Given the description of an element on the screen output the (x, y) to click on. 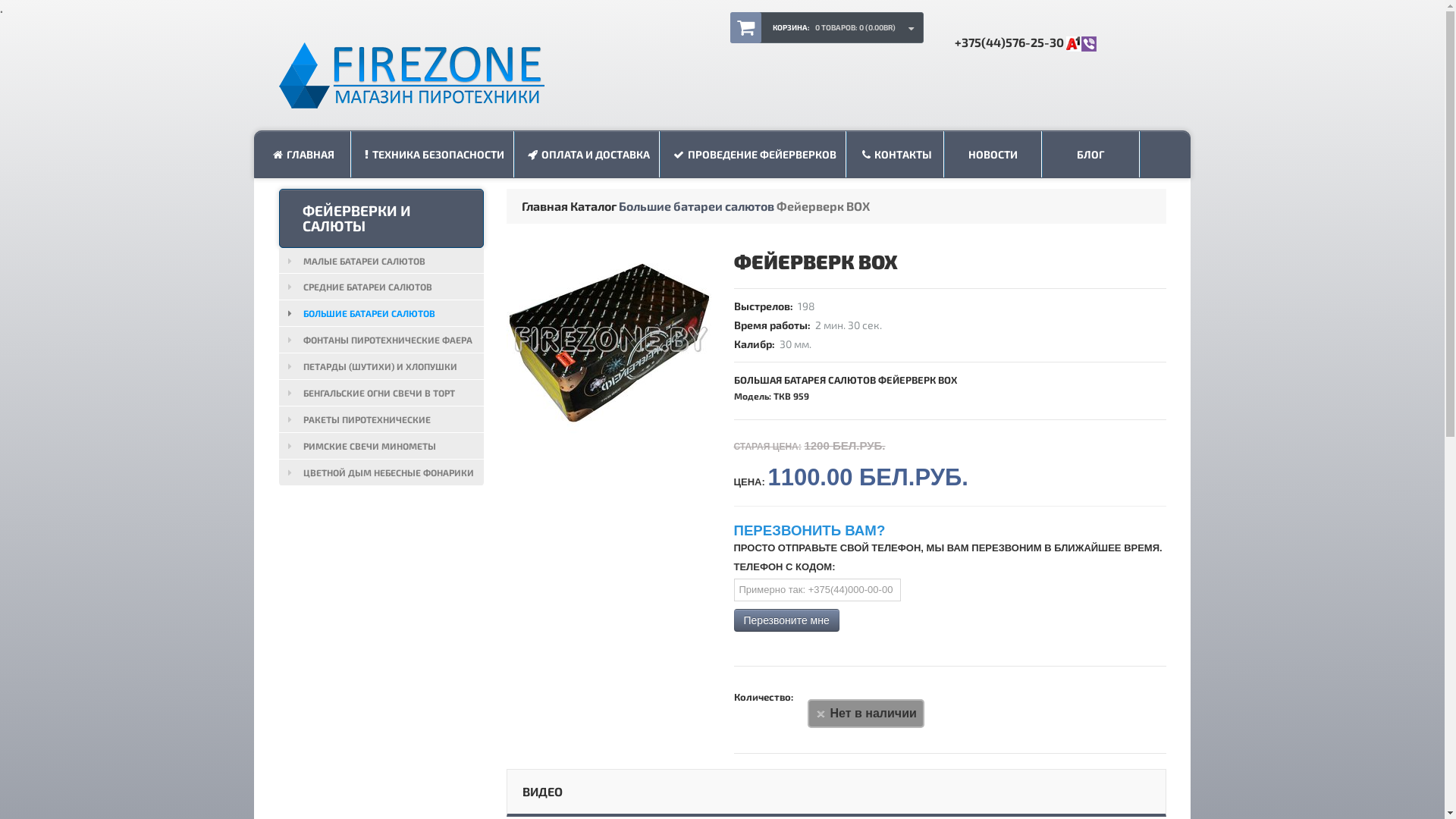
+375(44)576-25-30 Element type: text (1024, 41)
